Given the description of an element on the screen output the (x, y) to click on. 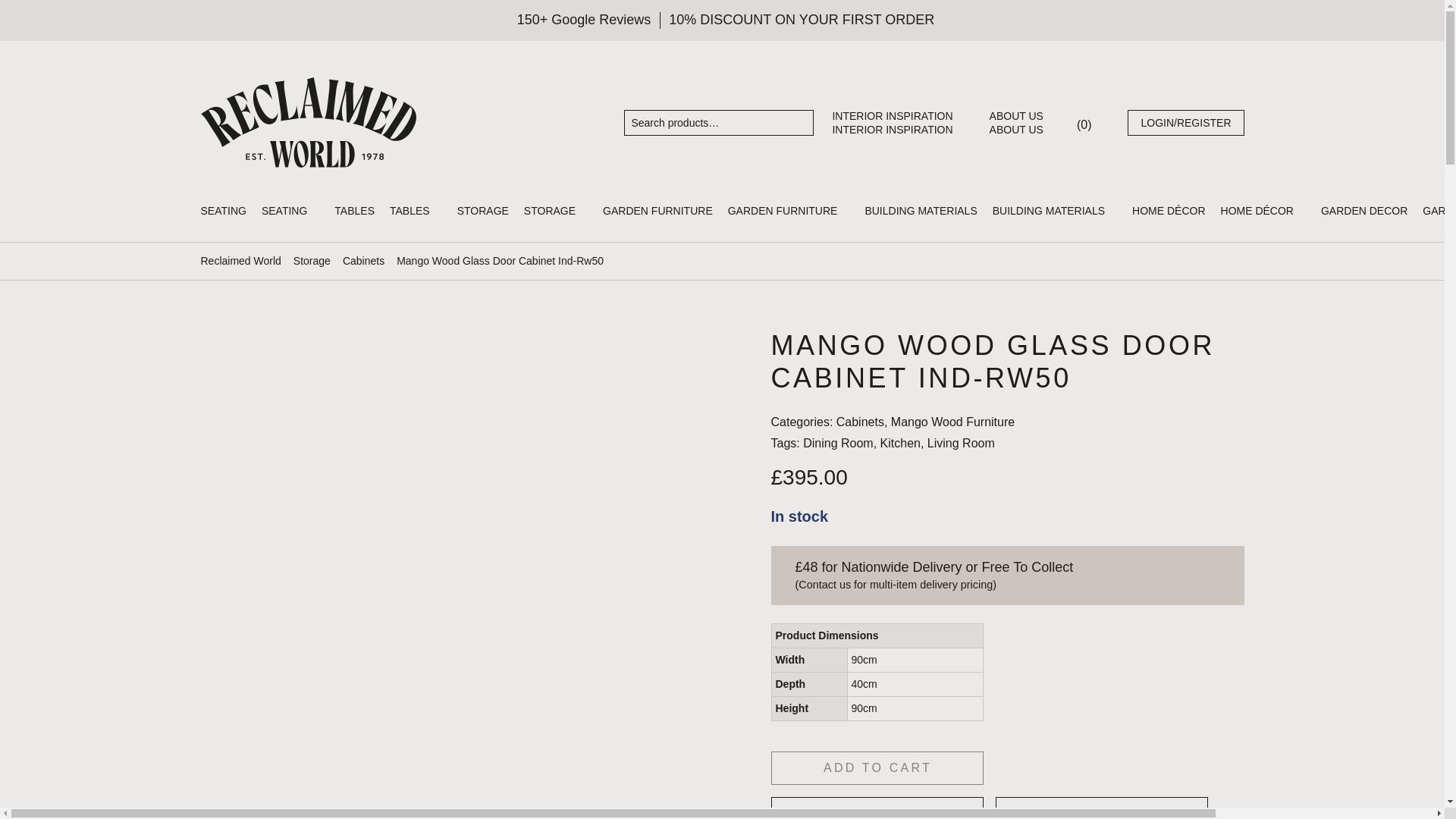
Reclaimed World (307, 122)
View your shopping cart (1084, 124)
ABOUT US (1024, 115)
TABLES (362, 210)
SEATING (230, 210)
Search (801, 121)
